Given the description of an element on the screen output the (x, y) to click on. 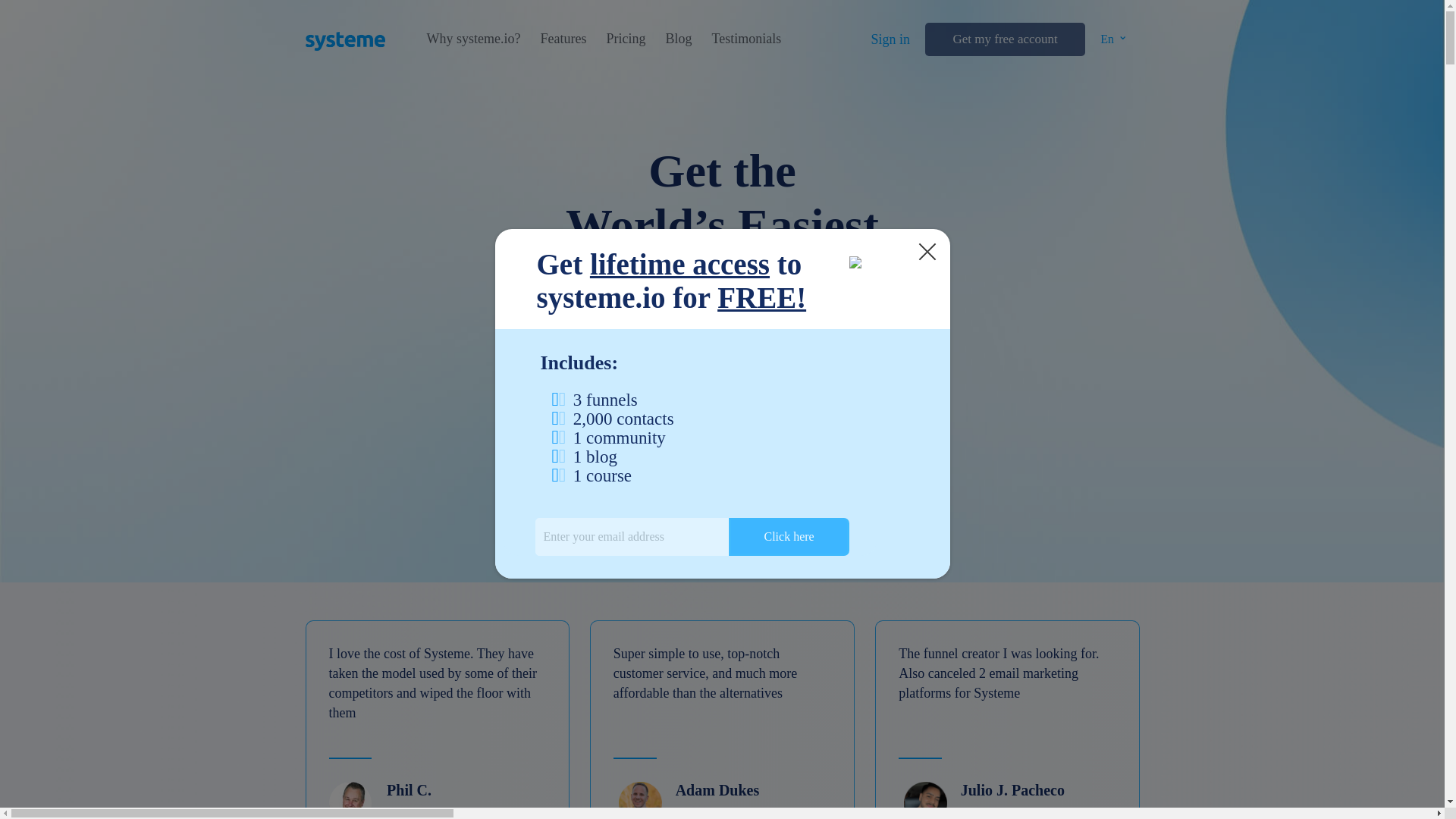
Sign in (890, 39)
Pricing (1453, 93)
Testimonials (745, 38)
Why systeme.io? (1453, 53)
Blog (1453, 109)
Pricing (625, 38)
Sign in (1453, 53)
Blog (678, 38)
Get my free account (1004, 39)
Features (1453, 77)
Testimonials (1453, 125)
Why systeme.io? (472, 38)
Features (563, 38)
